Given the description of an element on the screen output the (x, y) to click on. 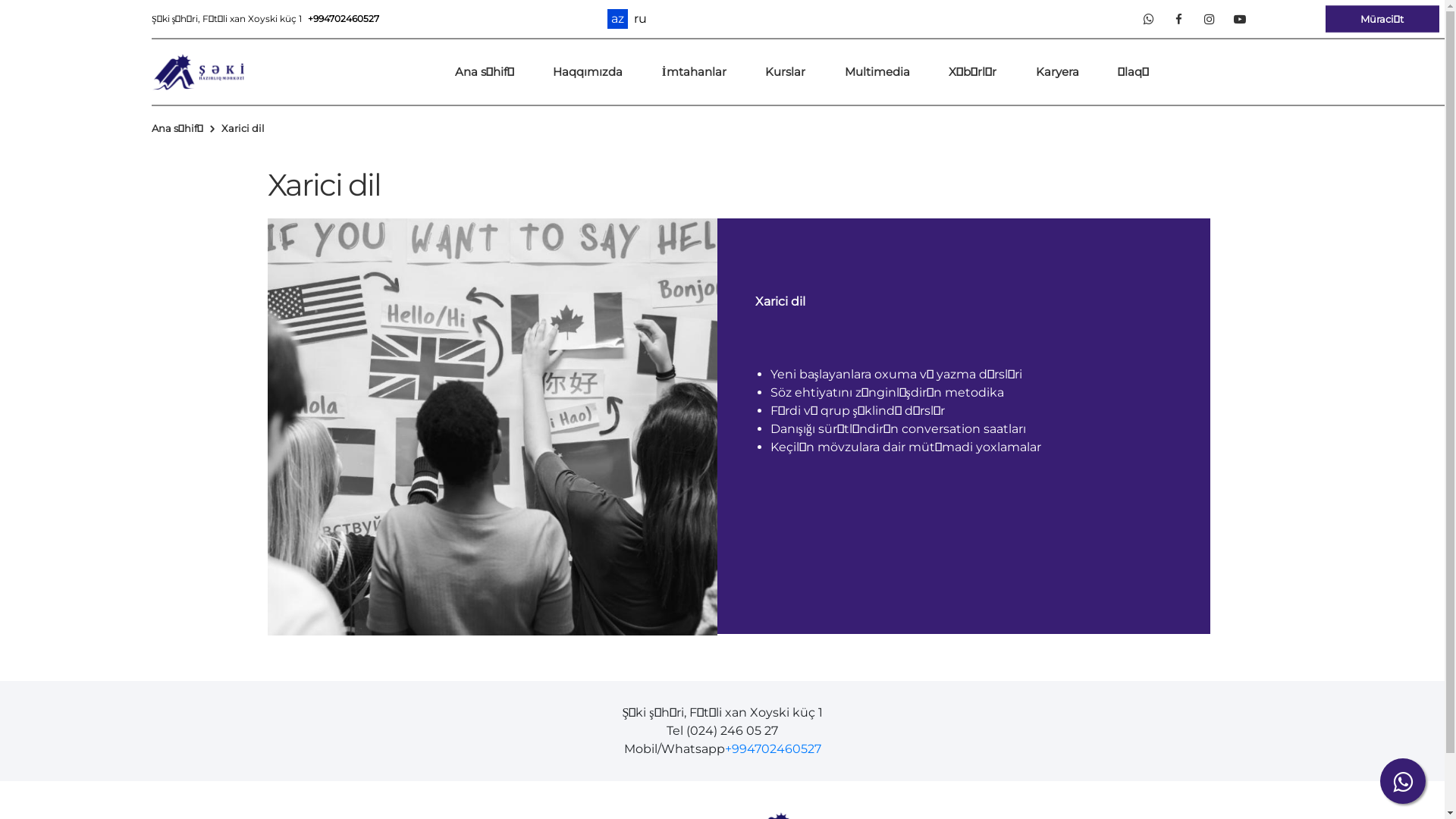
Xarici dil Element type: text (242, 130)
Karyera Element type: text (1057, 72)
+994702460527 Element type: text (772, 748)
Kurslar Element type: text (785, 72)
Multimedia Element type: text (877, 72)
+994702460527 Element type: text (343, 18)
ru Element type: text (639, 18)
az Element type: text (617, 18)
